Given the description of an element on the screen output the (x, y) to click on. 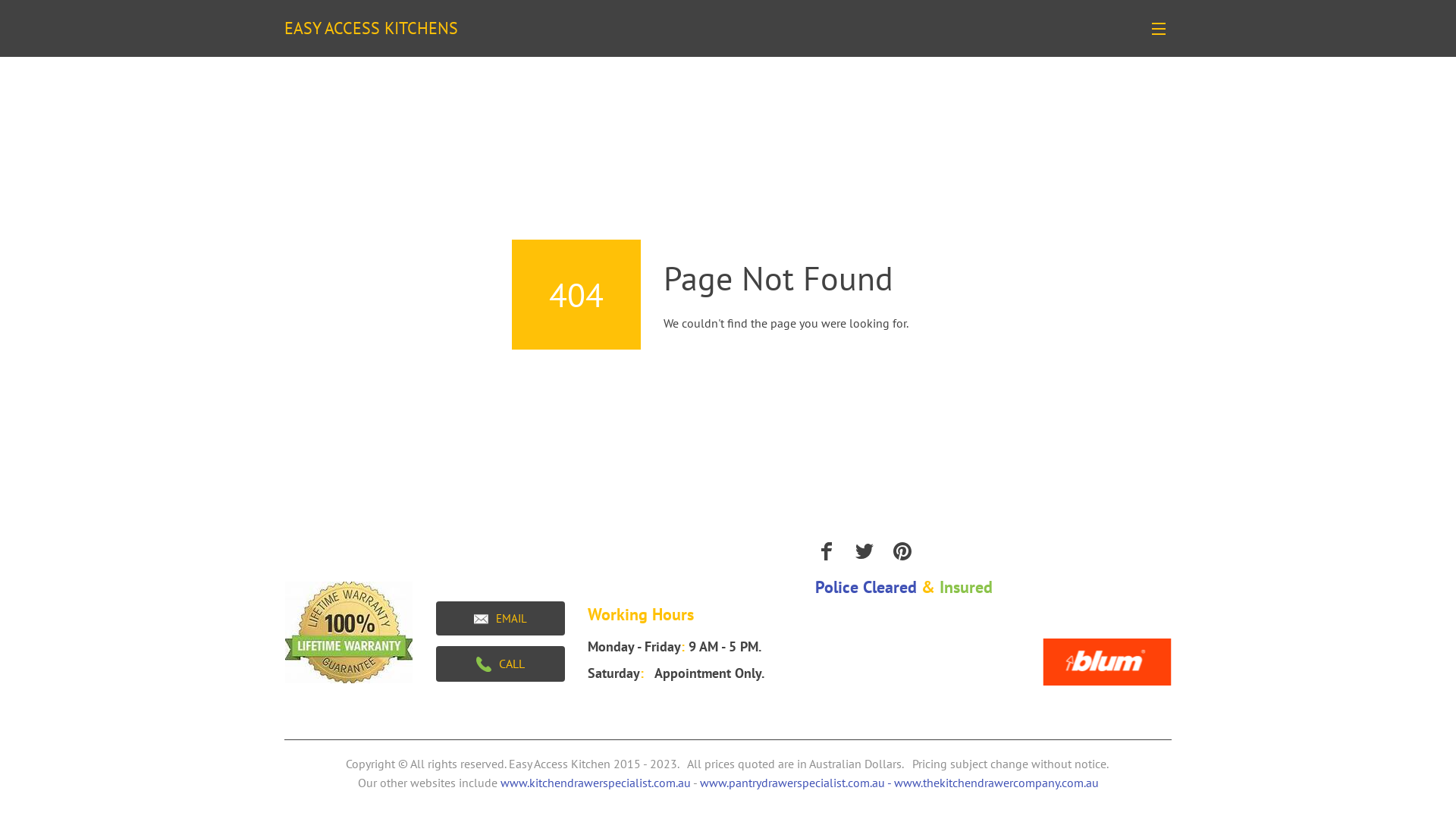
www.kitchendrawerspecialist.com.au Element type: text (595, 782)
CALL Element type: text (500, 663)
www.thekitchendrawercompany.com.au Element type: text (995, 782)
EMAIL Element type: text (500, 618)
EASY ACCESS KITCHENS Element type: text (378, 27)
www.pantrydrawerspecialist.com.au - Element type: text (796, 782)
Blum Logo Element type: hover (1107, 661)
life time warranty logo Element type: hover (348, 632)
